Given the description of an element on the screen output the (x, y) to click on. 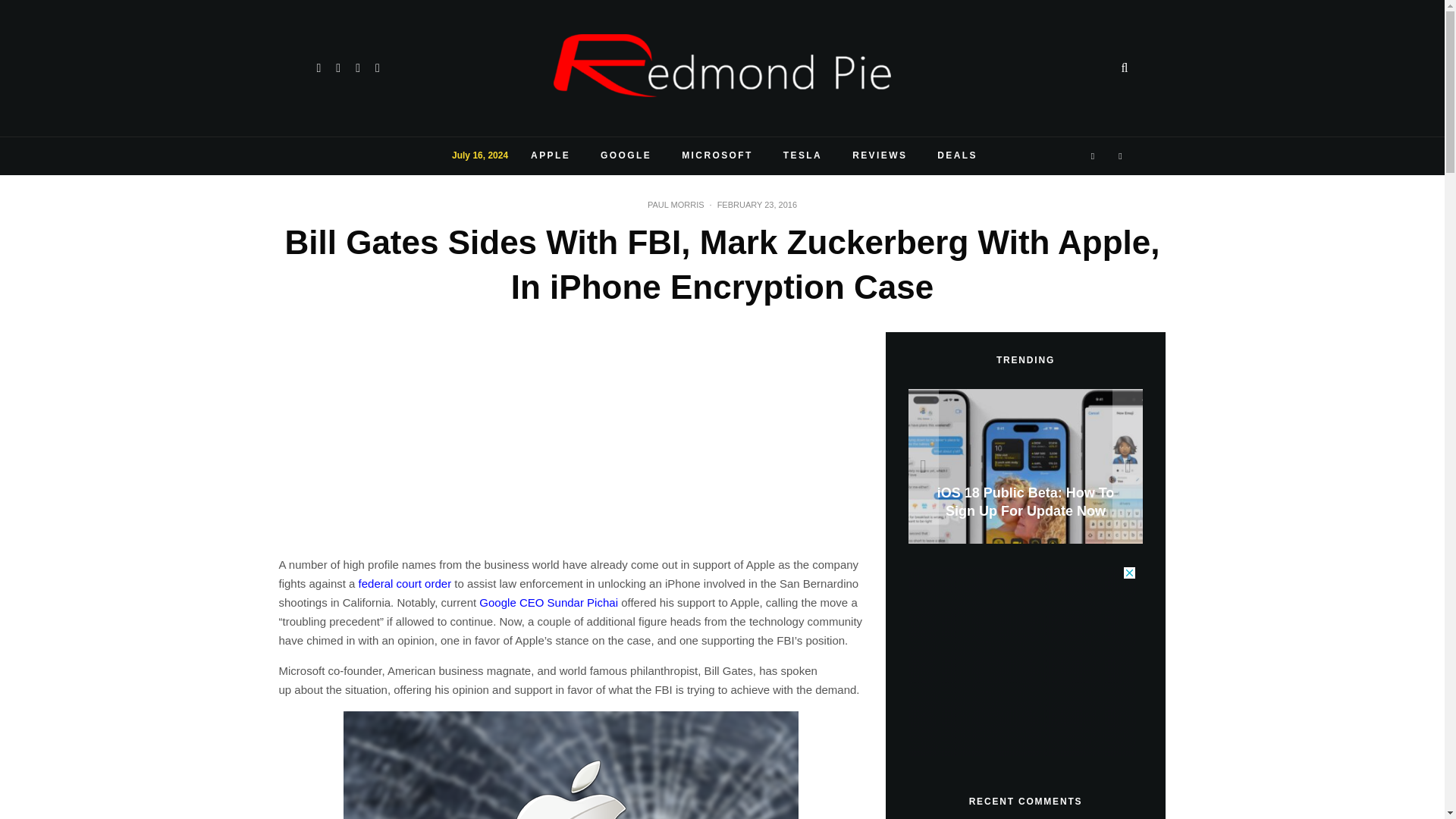
3rd party ad content (1021, 660)
MICROSOFT (717, 156)
GOOGLE (625, 156)
APPLE (550, 156)
TESLA (802, 156)
